Given the description of an element on the screen output the (x, y) to click on. 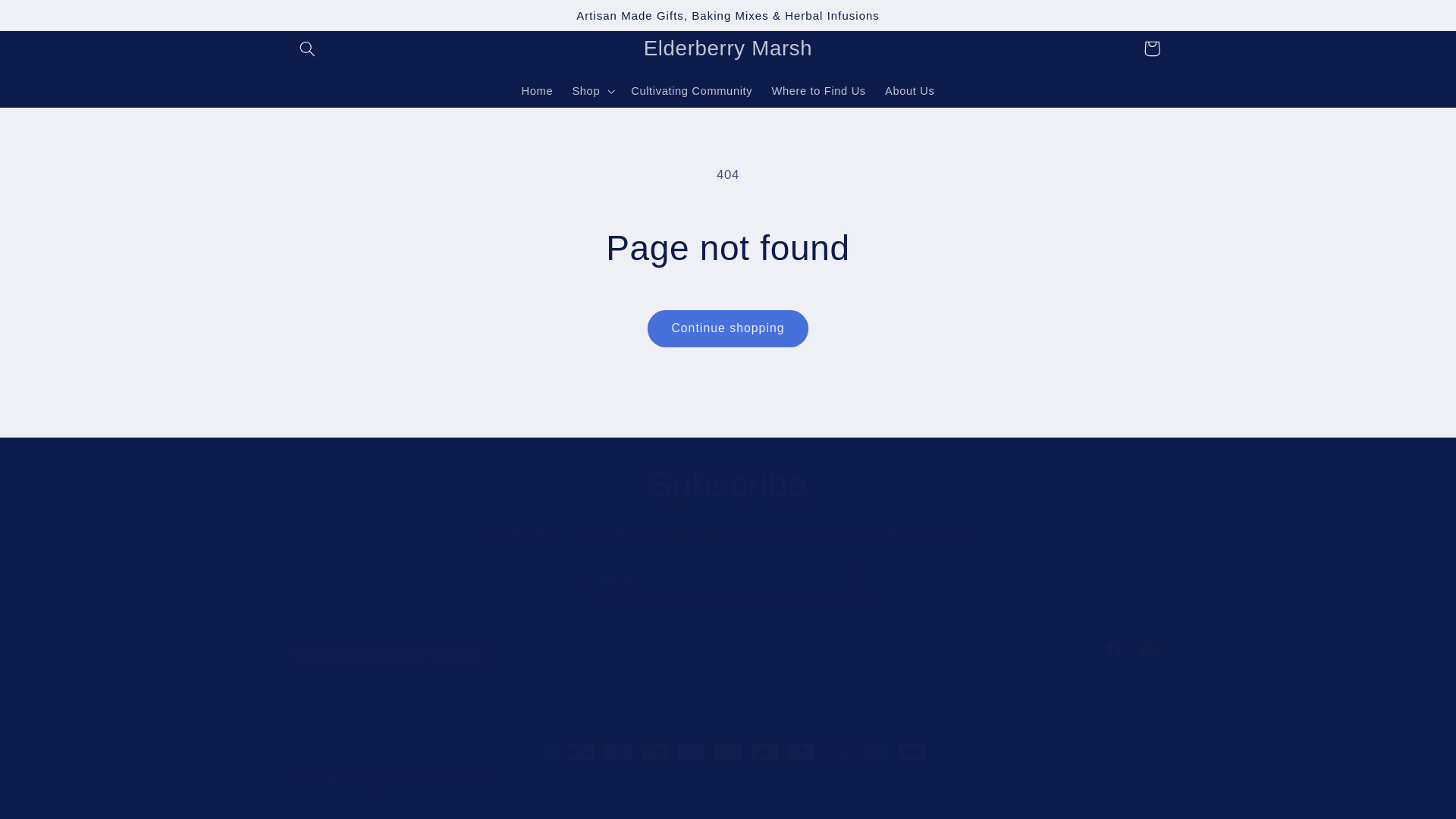
Email (727, 579)
Skip to content (48, 18)
Where to Find Us (818, 90)
Home (537, 90)
Subscribe (727, 484)
Cart (1151, 48)
Continue shopping (727, 328)
Cultivating Community (727, 648)
